Given the description of an element on the screen output the (x, y) to click on. 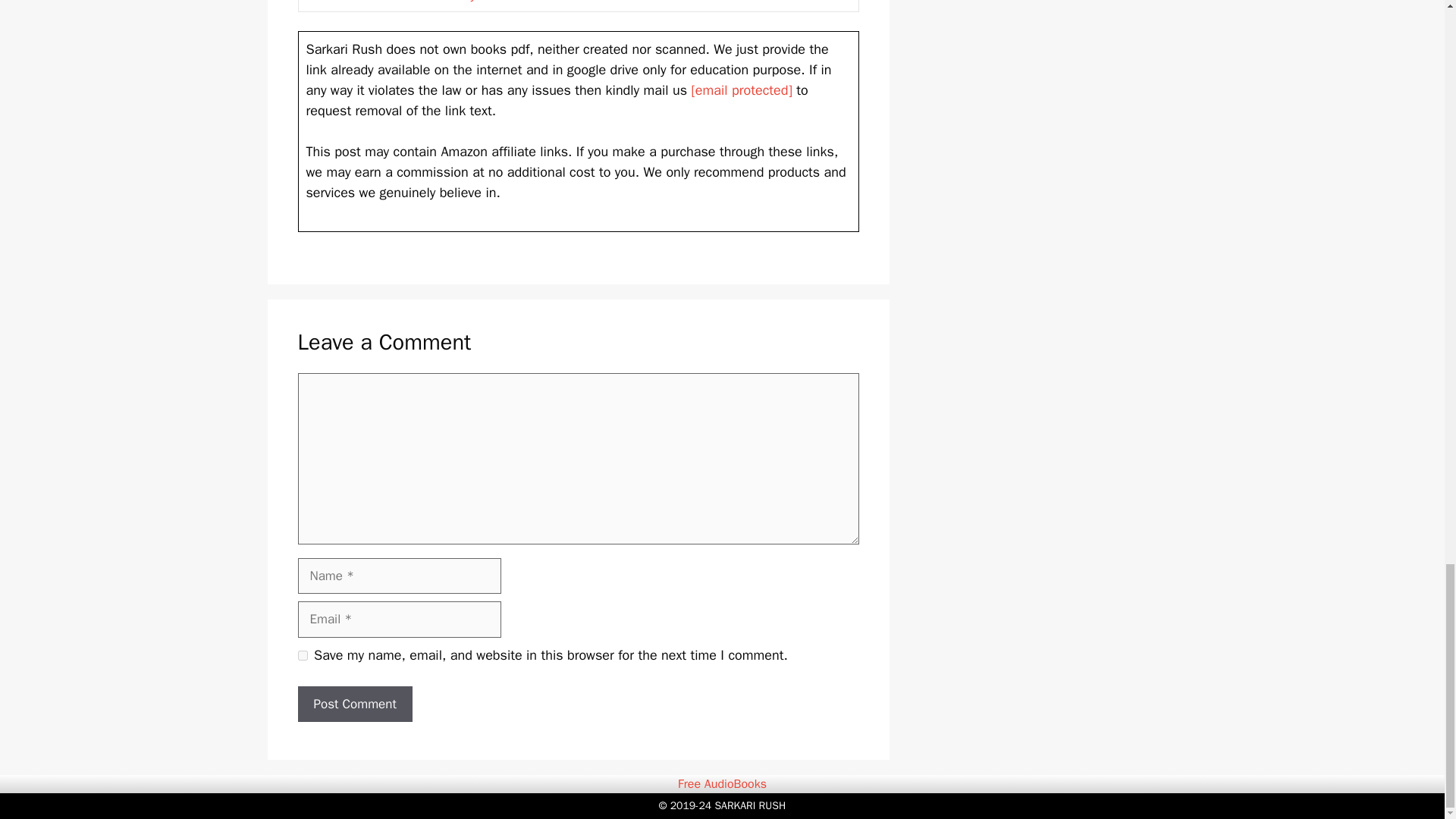
yes (302, 655)
The Au Pair Affair Tessa Bailey PDF (403, 1)
Post Comment (354, 704)
Post Comment (354, 704)
